Given the description of an element on the screen output the (x, y) to click on. 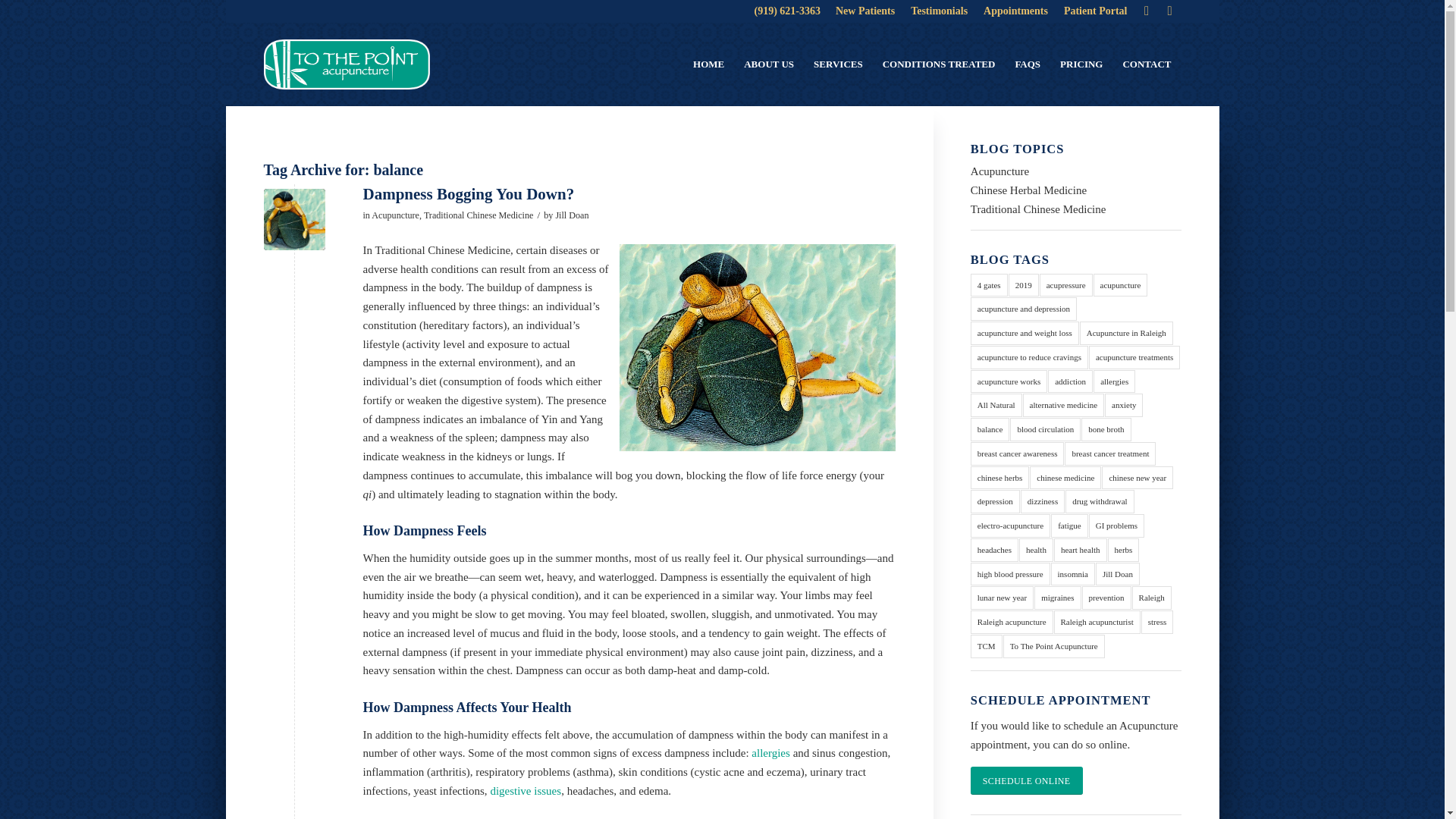
To The Point Acupuncture logo (346, 64)
Testimonials (939, 11)
Acupuncture (395, 214)
New Patients (865, 11)
Permanent Link: Dampness Bogging You Down? (467, 194)
allergies (770, 752)
digestive issues (524, 790)
Dampness Bogging You Down? (467, 194)
Posts by Jill Doan (571, 214)
Traditional Chinese Medicine (478, 214)
Jill Doan (571, 214)
BlogCoverPhoto (293, 219)
